Given the description of an element on the screen output the (x, y) to click on. 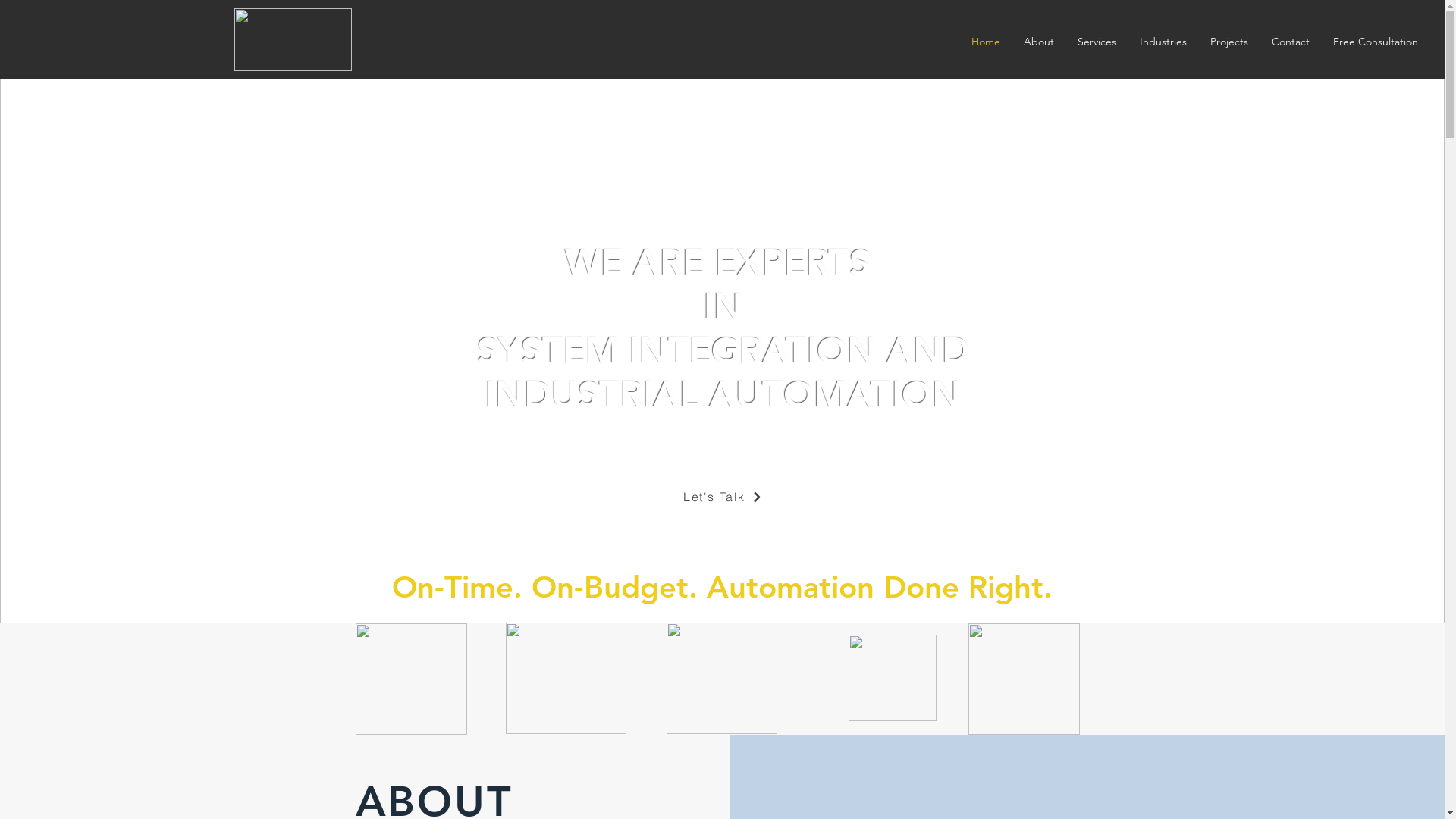
Client Logo 1 Element type: hover (410, 678)
About Element type: text (1038, 42)
Home Element type: text (985, 42)
Client Logo 2 Element type: hover (565, 678)
Client Logo 5 Element type: hover (1023, 678)
Industries Element type: text (1162, 42)
Let's Talk Element type: text (722, 496)
Projects Element type: text (1228, 42)
Client Logo 4 Element type: hover (891, 677)
Client Logo 3 Element type: hover (720, 678)
Contact Element type: text (1290, 42)
Services Element type: text (1096, 42)
Free Consultation Element type: text (1375, 42)
400dpiLogoCropped_edited.png Element type: hover (292, 39)
